Given the description of an element on the screen output the (x, y) to click on. 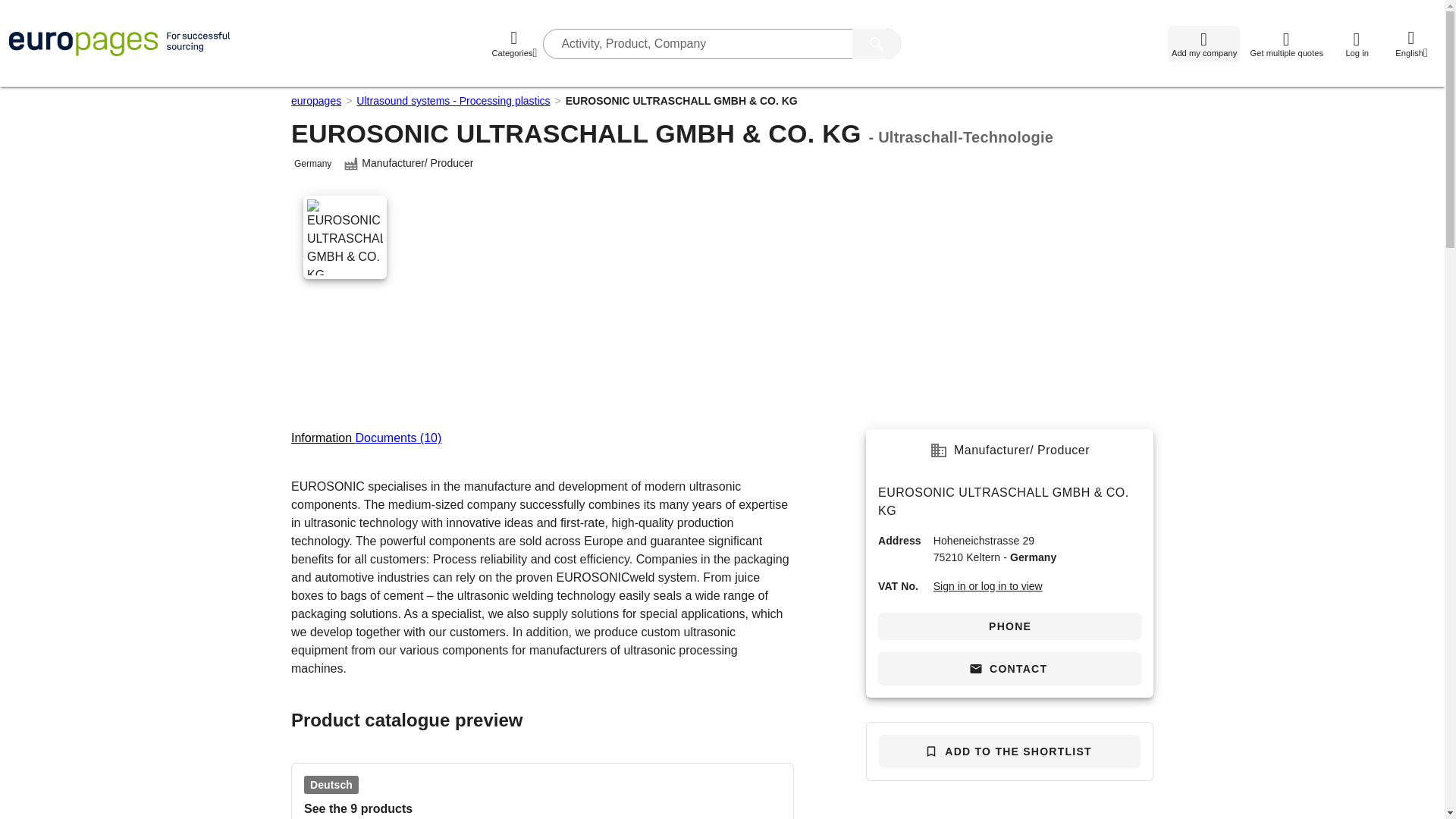
Get multiple quotes (1286, 43)
Add my company (1203, 43)
English (1411, 43)
Categories (513, 43)
Log in (1356, 43)
